Given the description of an element on the screen output the (x, y) to click on. 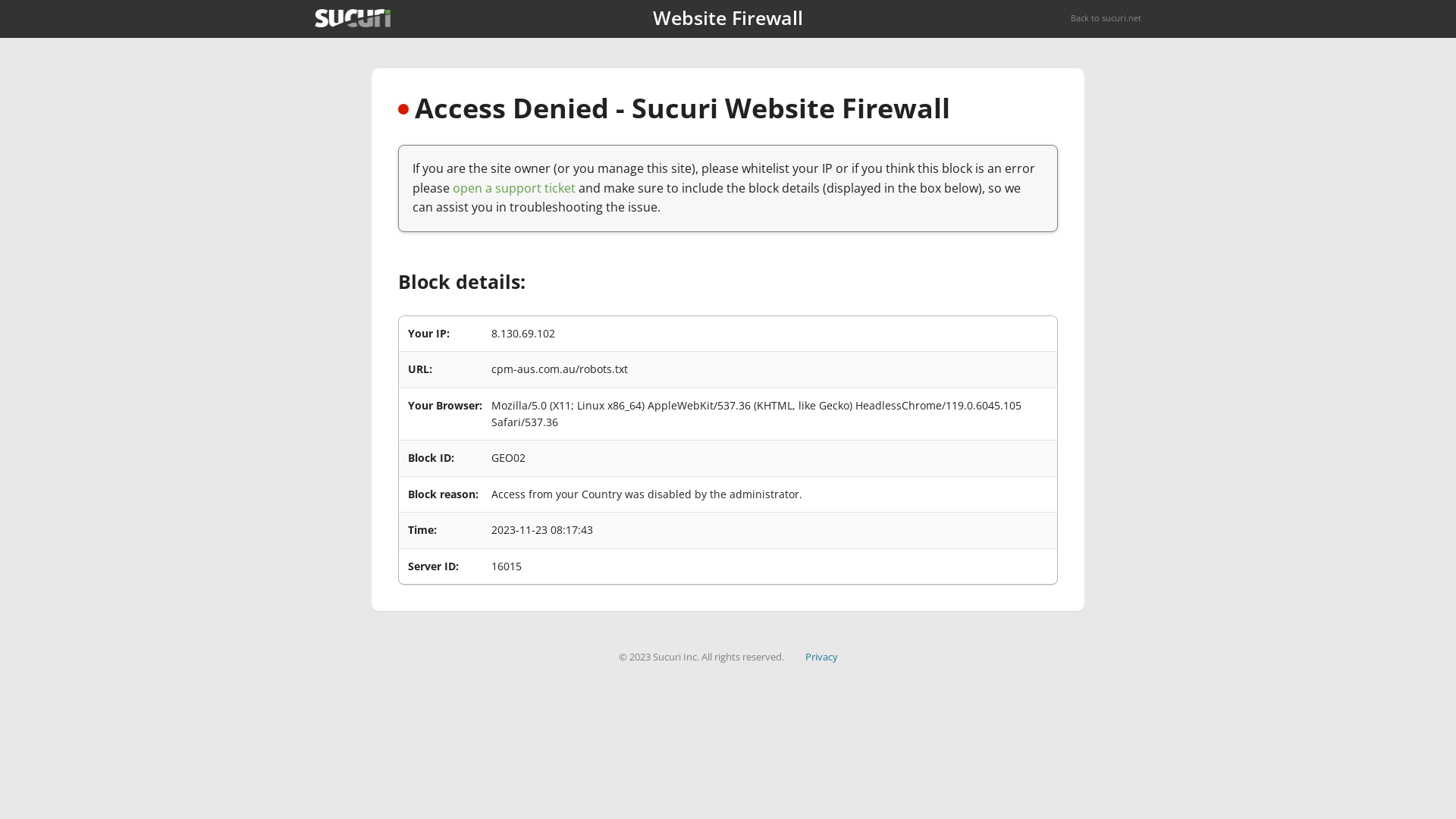
Privacy Element type: text (821, 656)
open a support ticket Element type: text (513, 187)
Back to sucuri.net Element type: text (1105, 18)
